Given the description of an element on the screen output the (x, y) to click on. 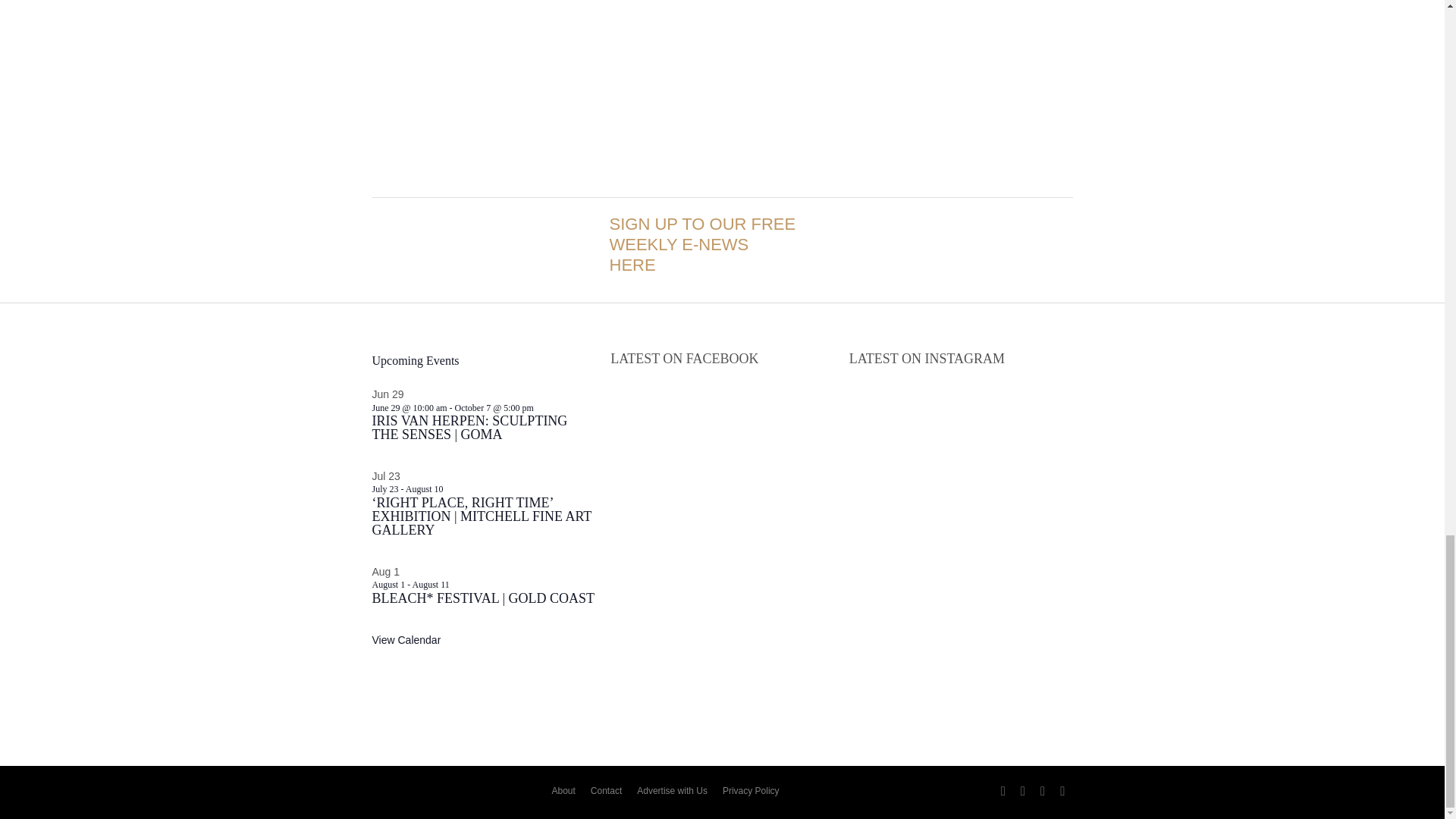
View more events. (406, 639)
Queensland Magazine (449, 791)
